Given the description of an element on the screen output the (x, y) to click on. 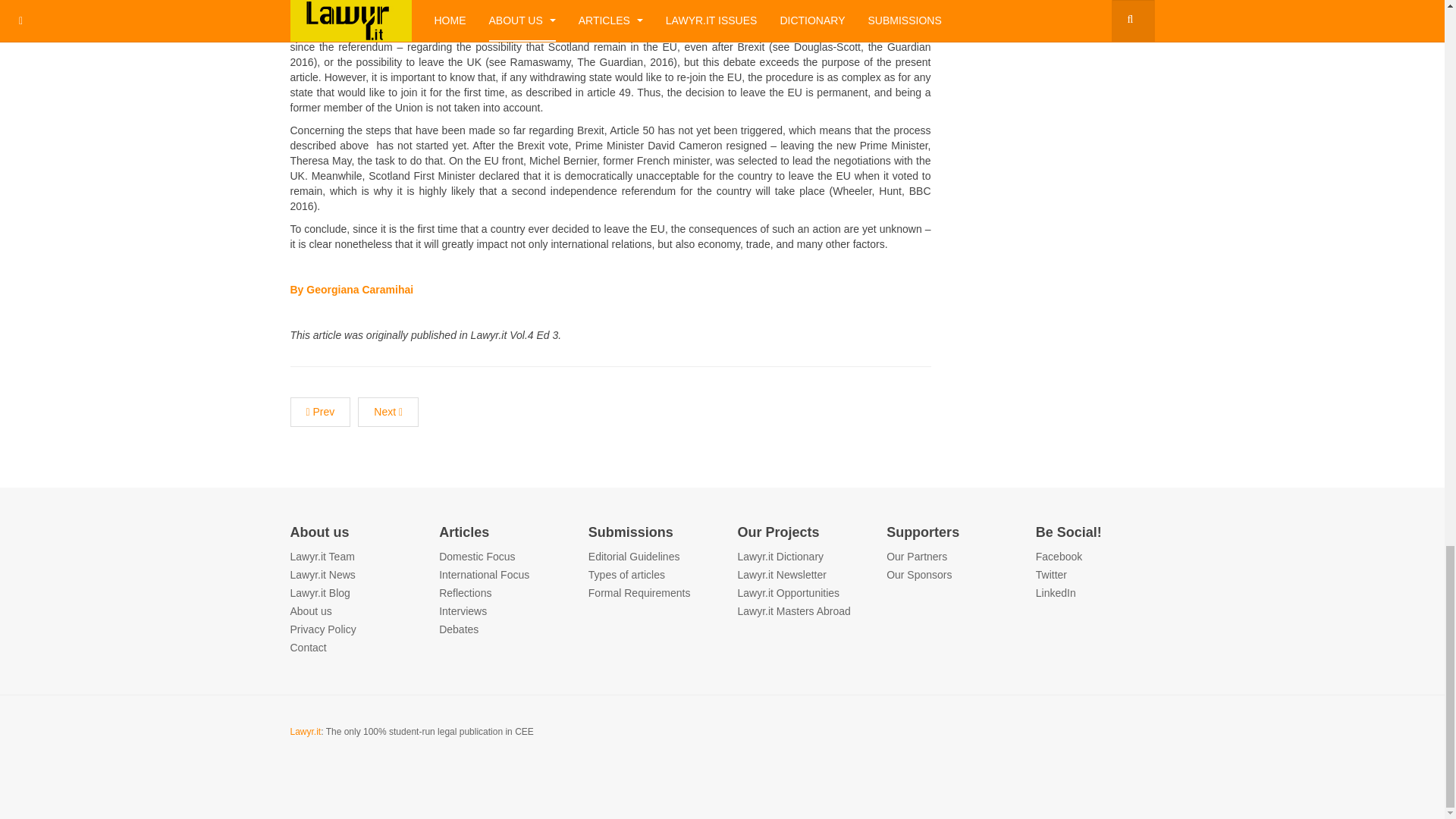
Joomla extension (322, 574)
Joomla 3 template (307, 647)
Joomla template (321, 556)
T3 template (477, 556)
Joomla plugin (310, 611)
